Given the description of an element on the screen output the (x, y) to click on. 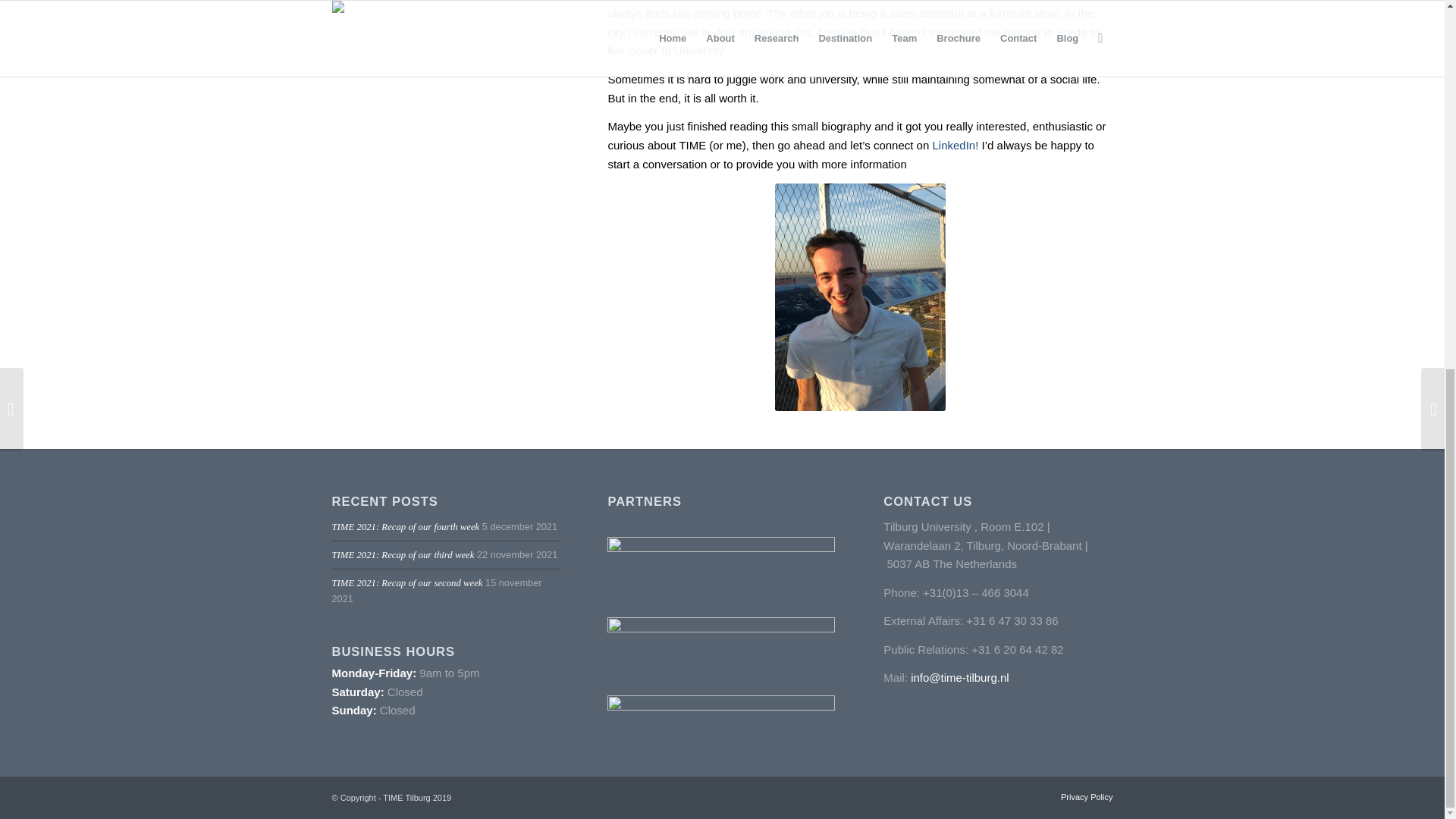
Privacy Policy (1086, 796)
TIME 2021: Recap of our fourth week (405, 526)
LinkedIn! (954, 144)
TIME 2021: Recap of our third week (402, 554)
TIME 2021: Recap of our second week (407, 583)
